Given the description of an element on the screen output the (x, y) to click on. 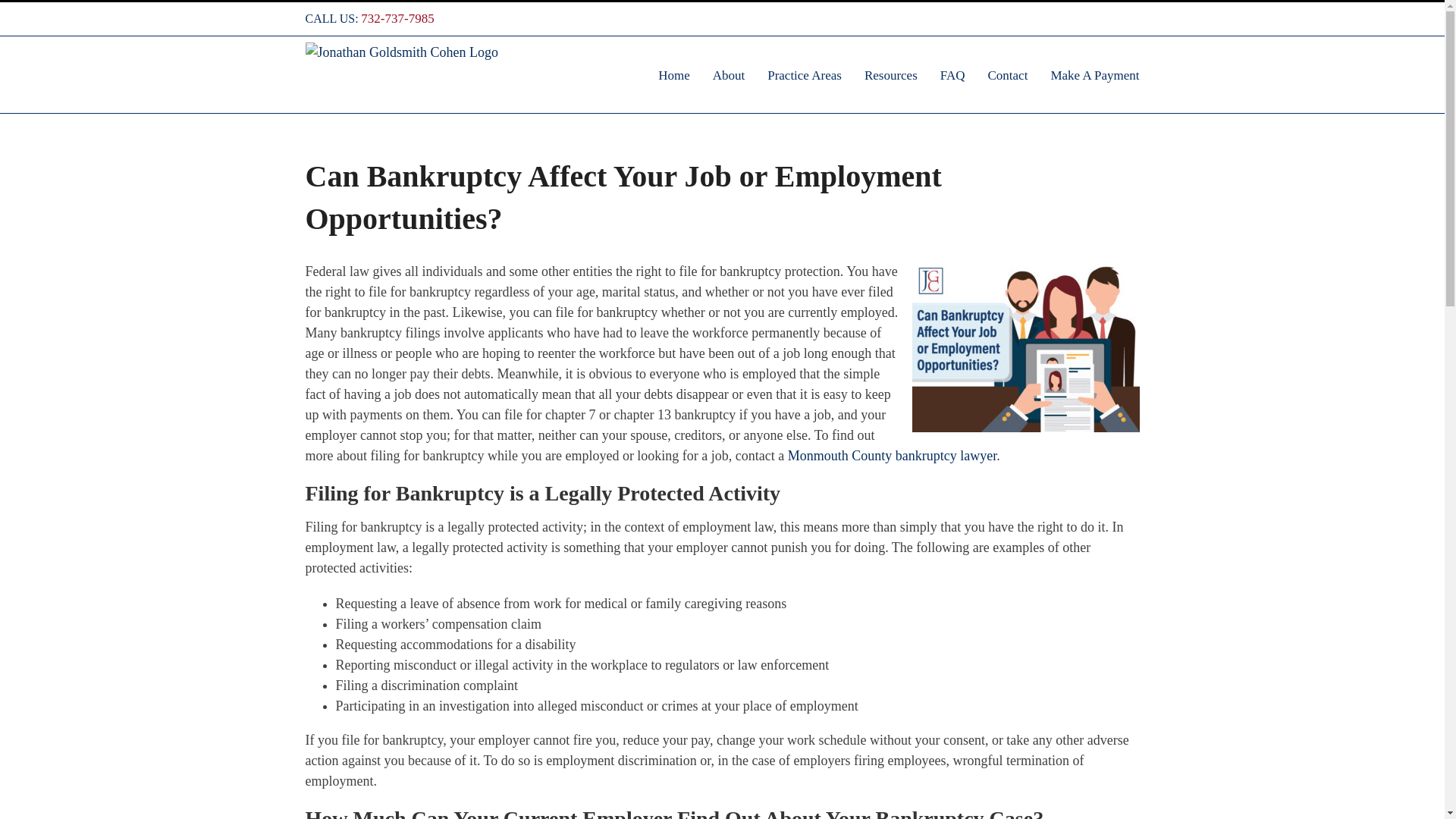
Practice Areas (804, 74)
Monmouth County bankruptcy lawyer (891, 455)
732-737-7985 (397, 18)
Make A Payment (1093, 74)
